Given the description of an element on the screen output the (x, y) to click on. 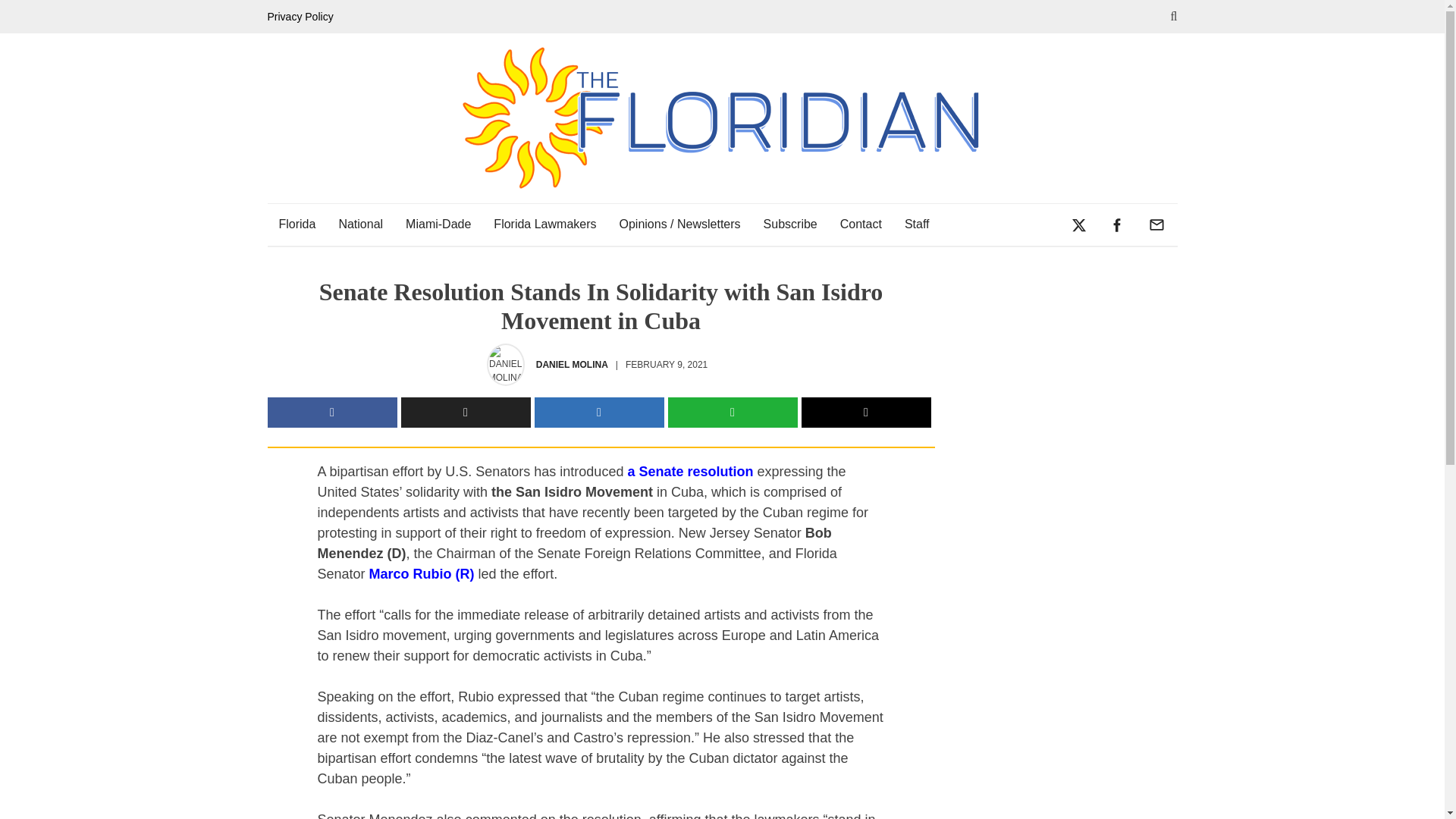
Subscribe (790, 223)
Privacy Policy (303, 16)
Contact (860, 223)
Florida Lawmakers (544, 223)
DANIEL MOLINA (571, 364)
National (360, 223)
a Senate resolution (689, 471)
Staff (916, 223)
Florida (296, 223)
Miami-Dade (437, 223)
